Given the description of an element on the screen output the (x, y) to click on. 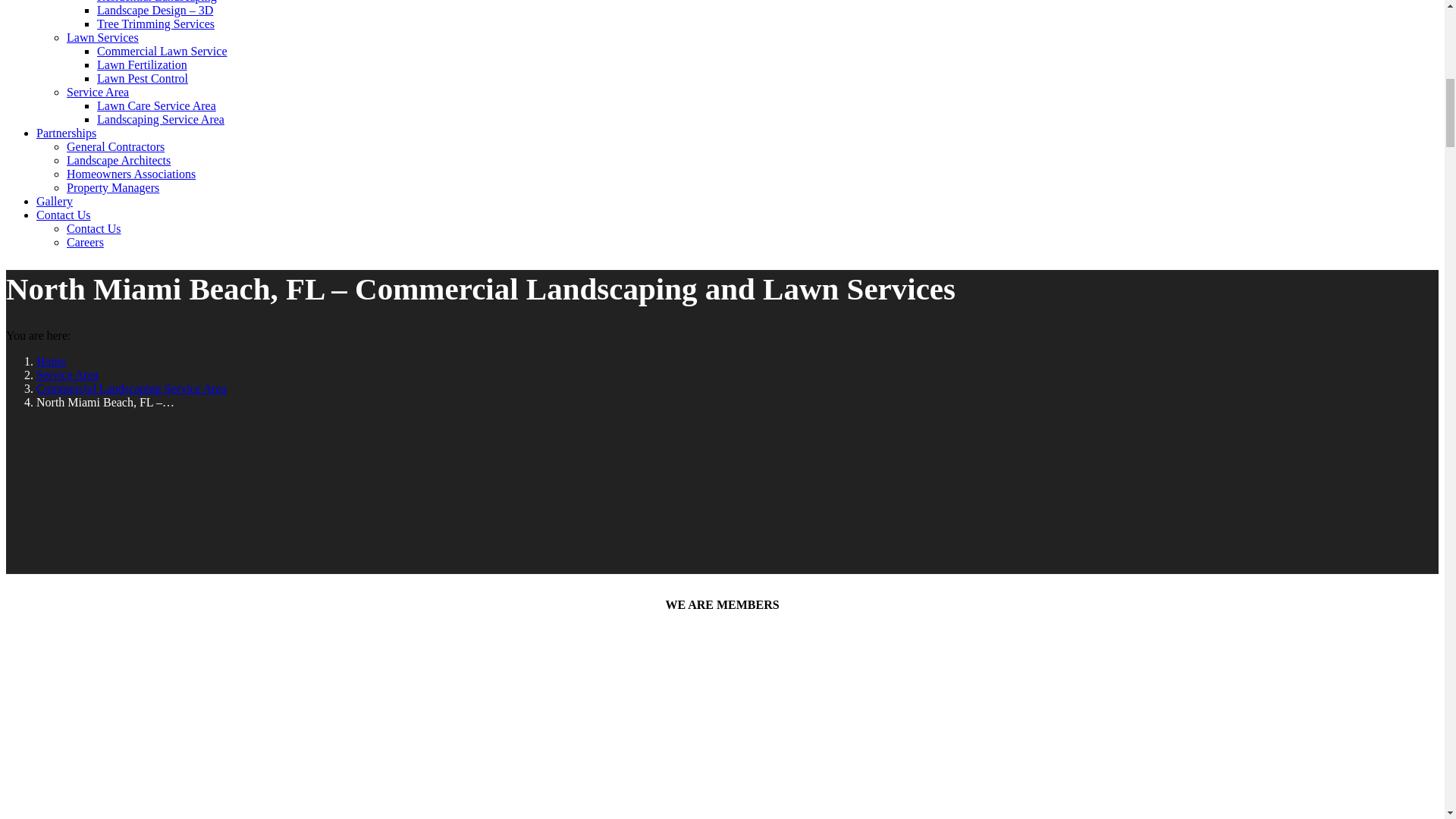
Home (50, 360)
Commercial Landscaping Service Area (131, 388)
Associated Builders and Contractors (149, 670)
Service Area (67, 374)
The Blue Book Building and Construction Network (149, 775)
